Given the description of an element on the screen output the (x, y) to click on. 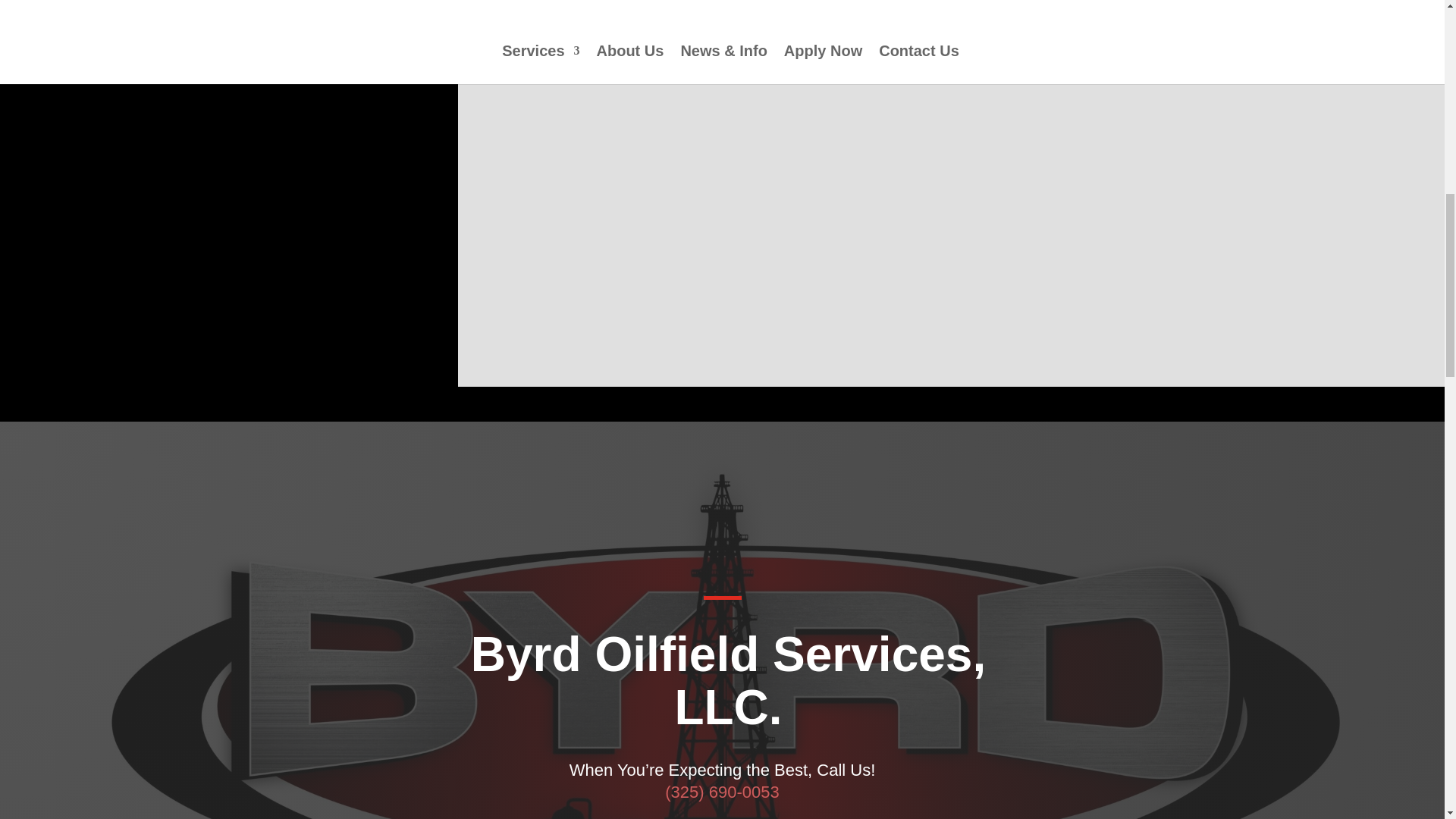
Casing (555, 5)
